Given the description of an element on the screen output the (x, y) to click on. 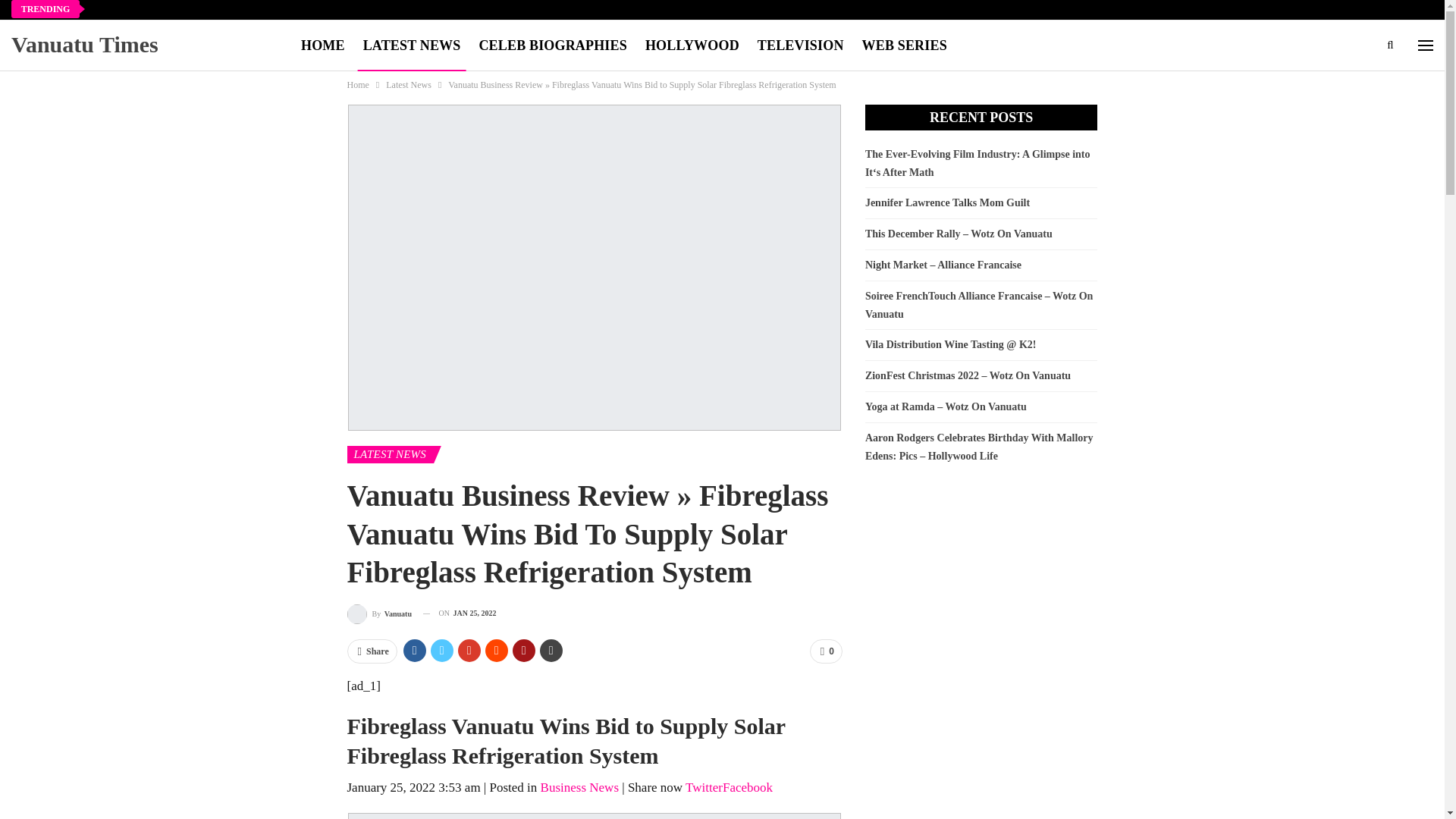
LATEST NEWS (390, 454)
Facebook (747, 787)
TELEVISION (800, 45)
LATEST NEWS (411, 45)
Twitter (703, 787)
Home (358, 84)
0 (826, 651)
By Vanuatu (379, 613)
CELEB BIOGRAPHIES (552, 45)
Tweet this (703, 787)
